Given the description of an element on the screen output the (x, y) to click on. 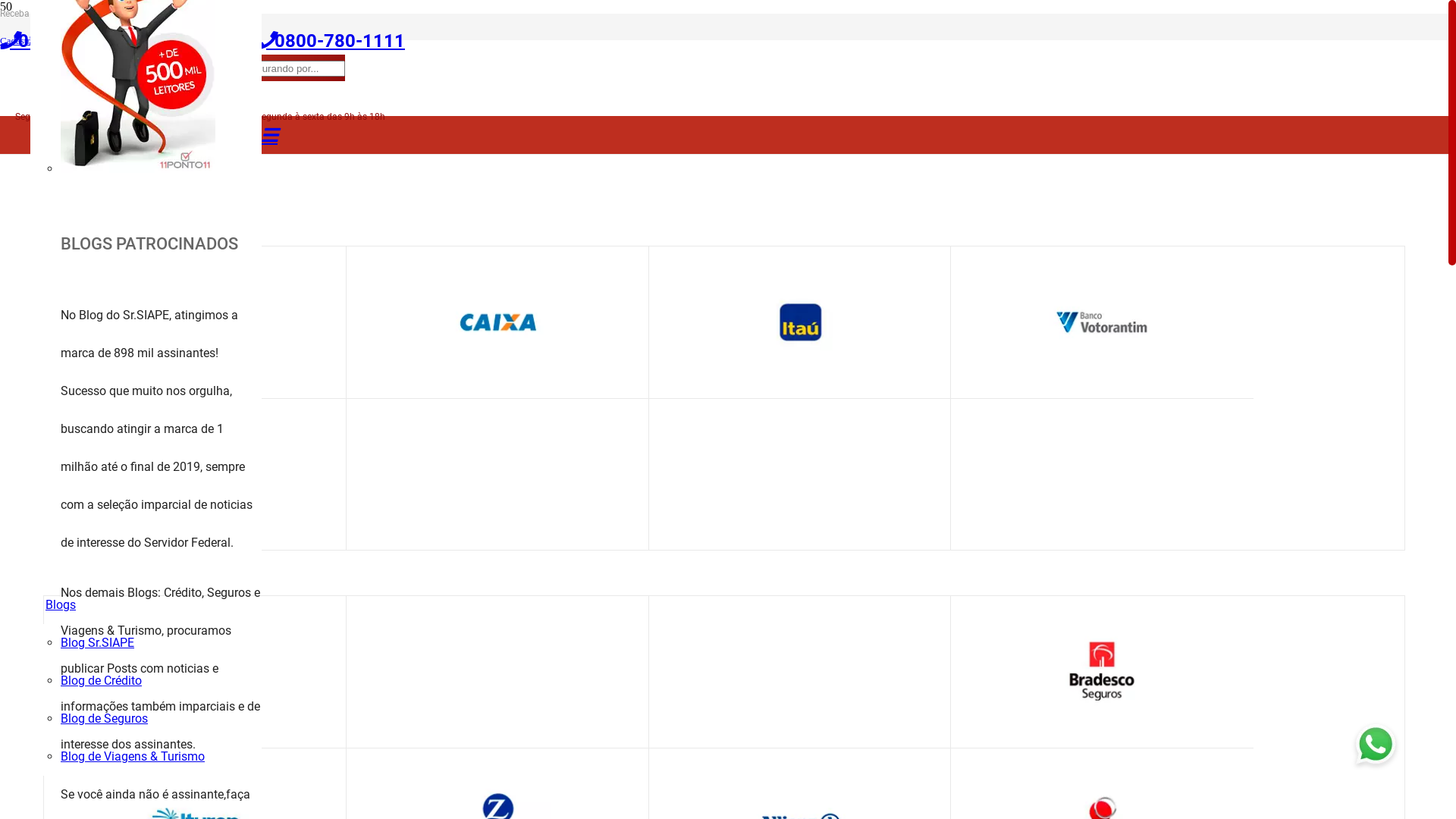
Cadastre-se AGORA aqui ! Element type: text (53, 40)
0800-780-1111 Element type: text (330, 40)
Blog de Seguros Element type: text (103, 718)
Blogs Element type: text (60, 604)
Blog Sr.SIAPE Element type: text (97, 642)
0800-607-1111 Element type: text (74, 40)
Blog de Viagens & Turismo Element type: text (132, 756)
WhatsApp Element type: hover (217, 13)
